Given the description of an element on the screen output the (x, y) to click on. 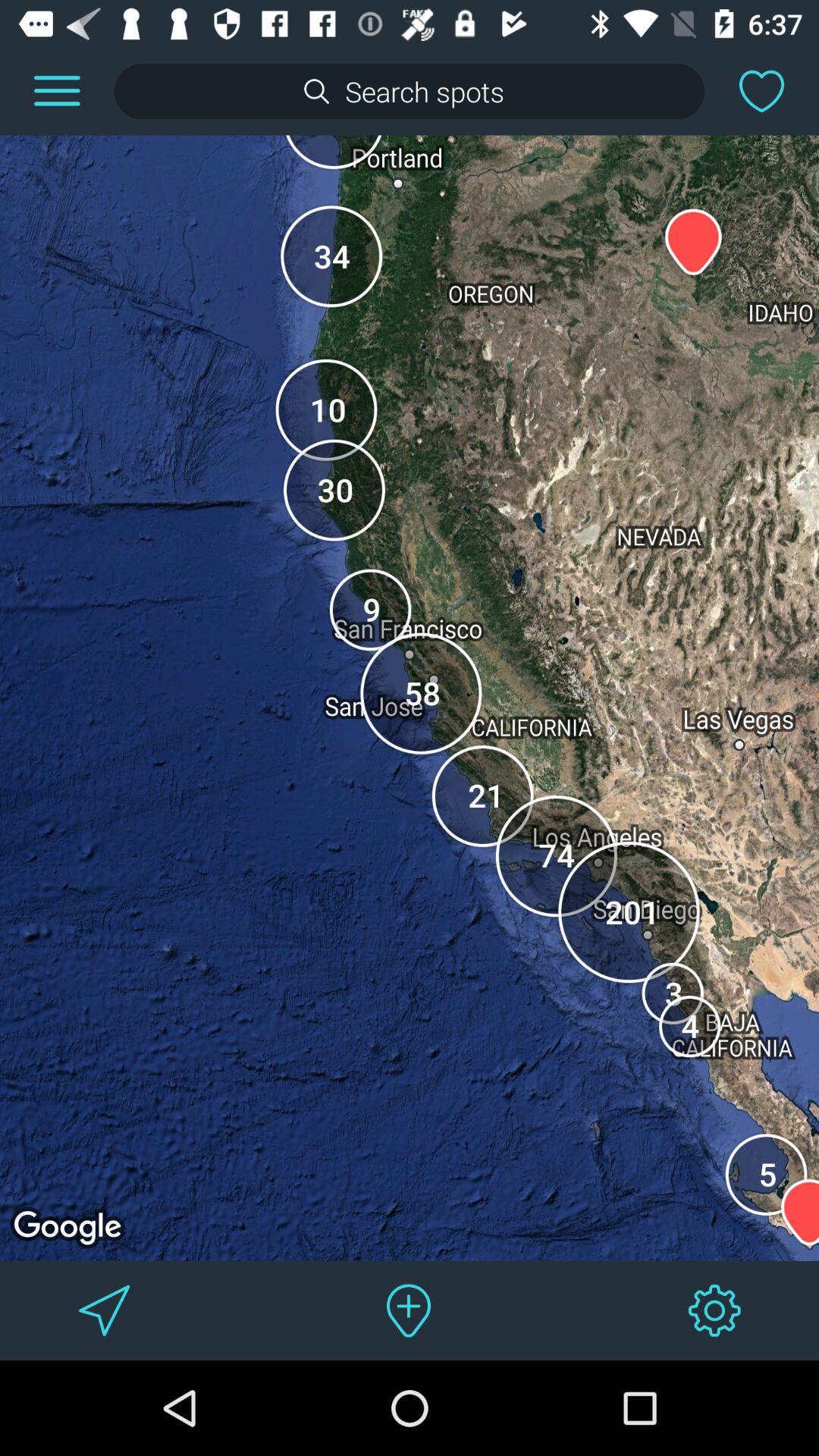
open menu (57, 91)
